Given the description of an element on the screen output the (x, y) to click on. 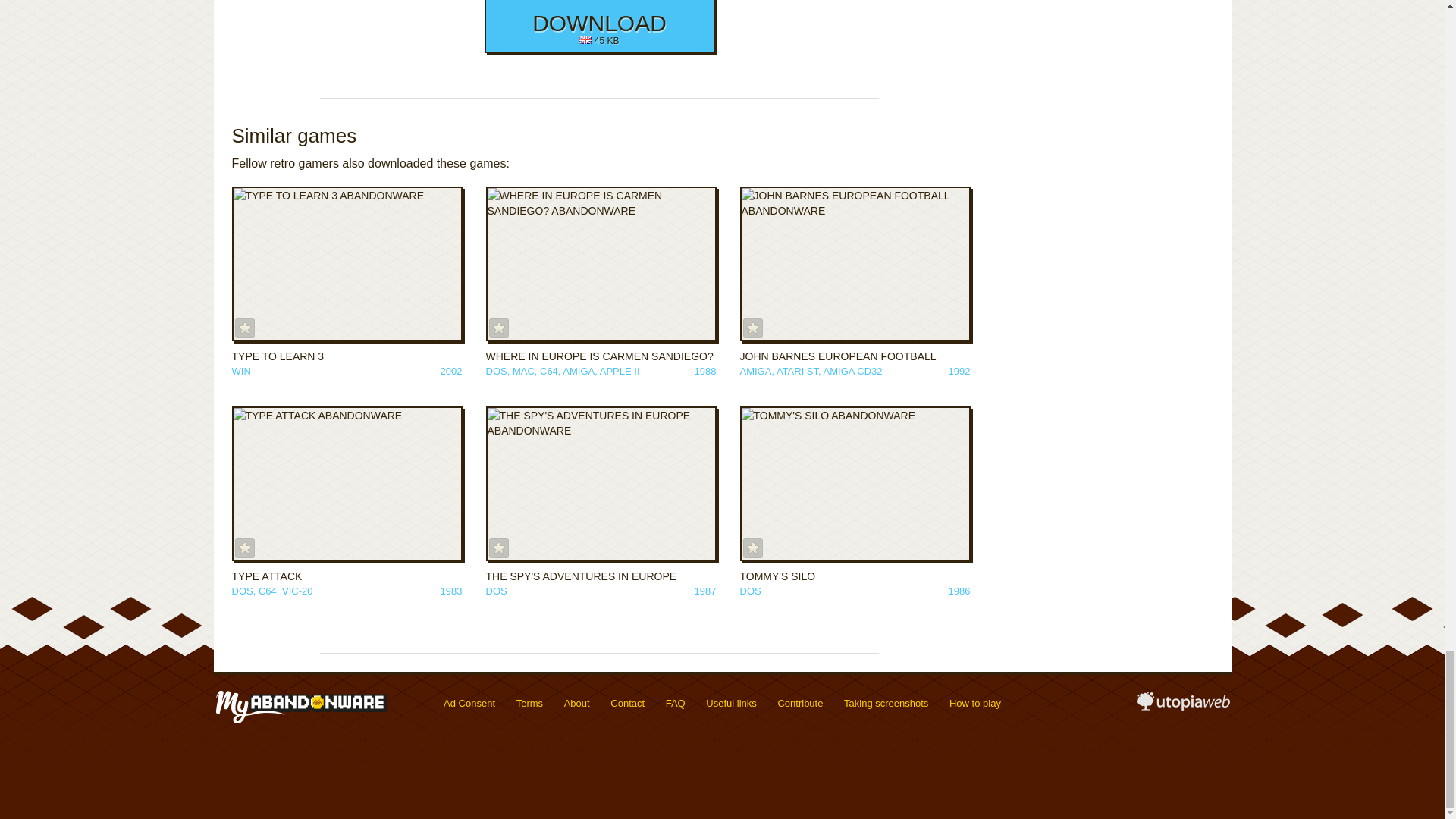
Visit utopiaweb website (1183, 706)
